Given the description of an element on the screen output the (x, y) to click on. 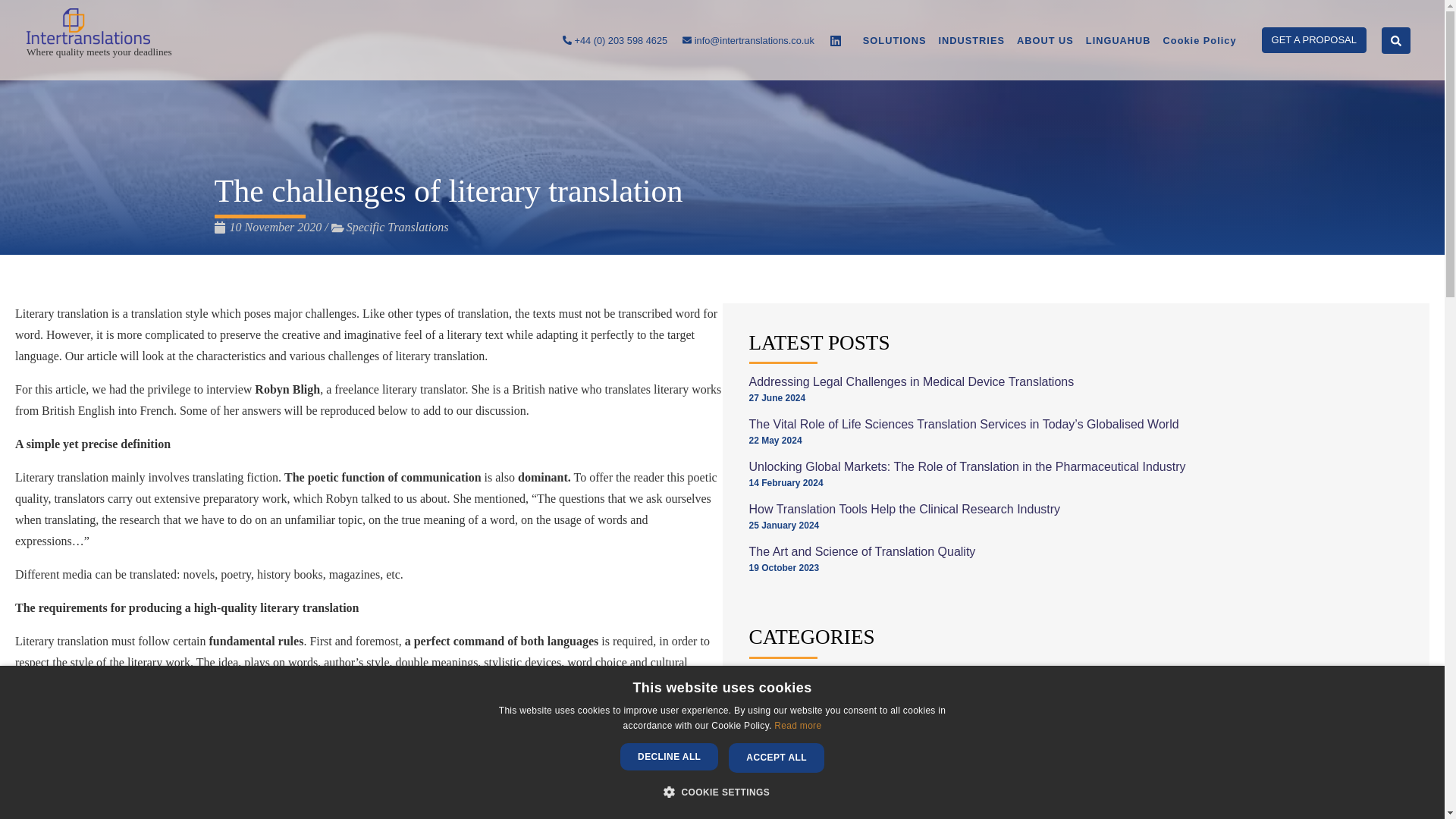
INDUSTRIES (971, 39)
ABOUT US (1044, 39)
SOLUTIONS (894, 39)
